Given the description of an element on the screen output the (x, y) to click on. 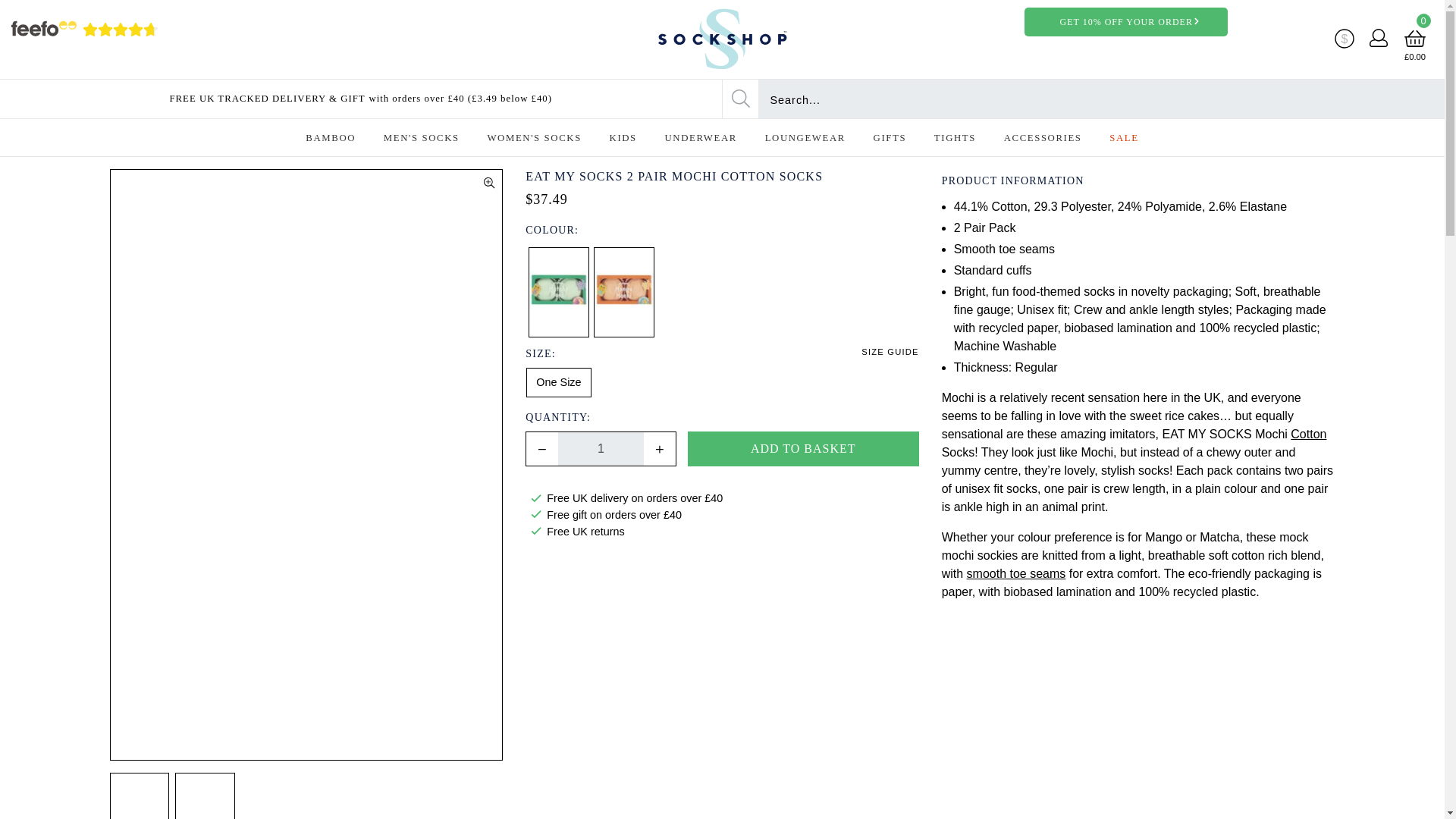
1 (600, 448)
SOCKSHOP (721, 39)
SIZE GUIDE (889, 351)
BAMBOO (330, 137)
